Given the description of an element on the screen output the (x, y) to click on. 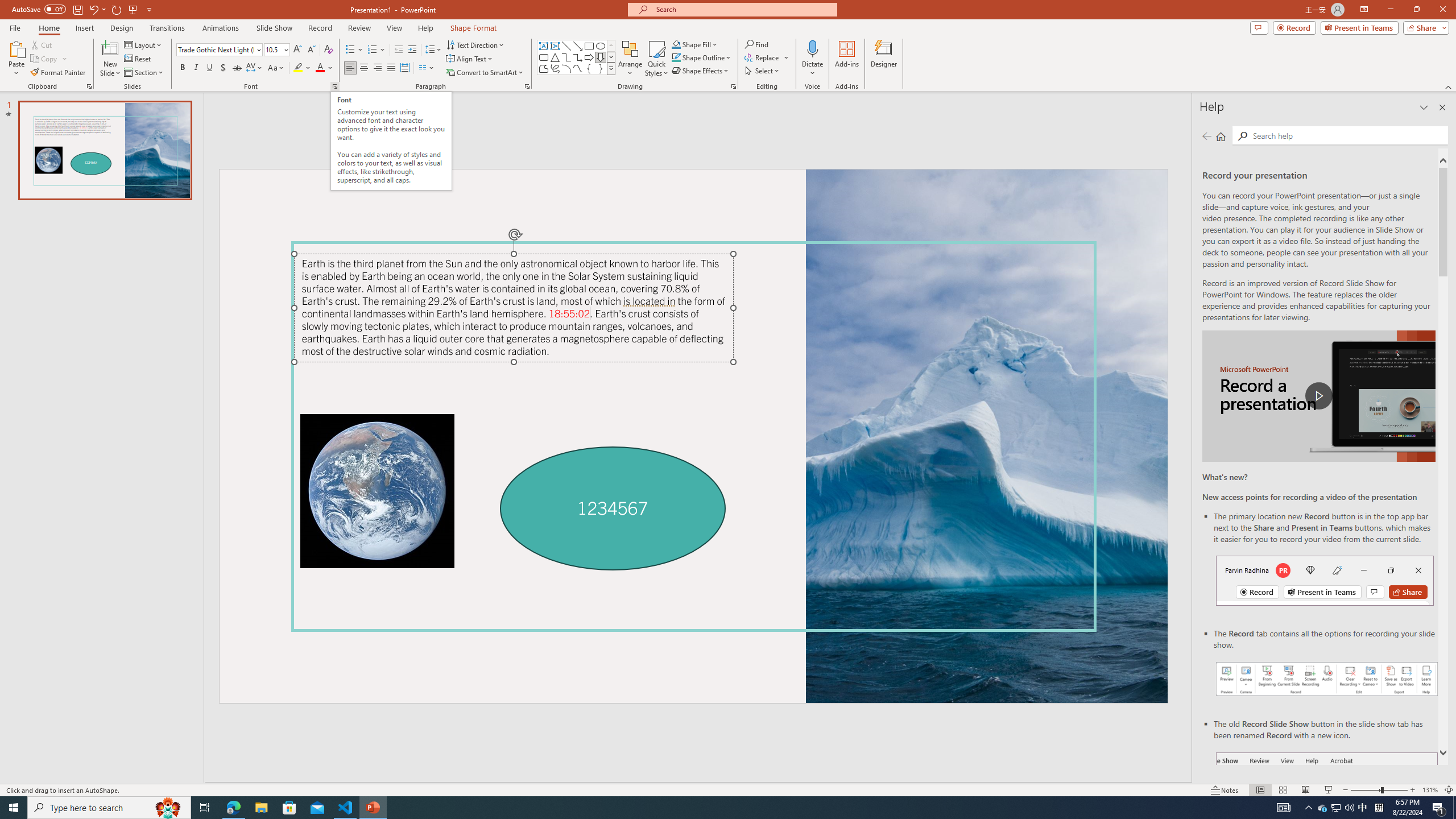
Previous page (1206, 136)
Search (1241, 136)
Select (762, 69)
Numbering (372, 49)
Shapes (611, 68)
Line Arrow (577, 45)
Paste (16, 58)
Increase Font Size (297, 49)
Font Size (276, 49)
Align Text (470, 58)
Right Brace (600, 68)
